Given the description of an element on the screen output the (x, y) to click on. 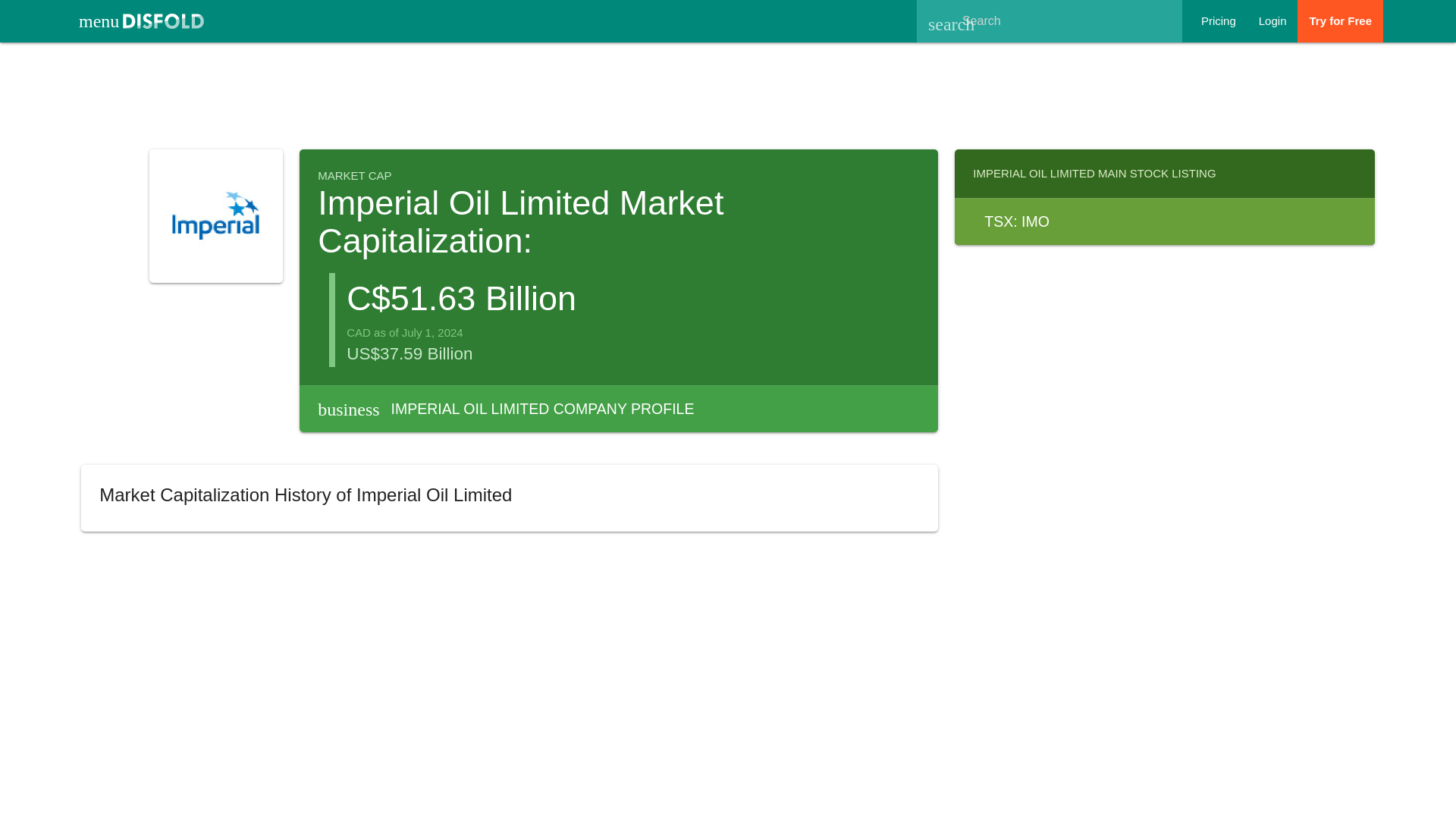
Try for Free (1340, 21)
Login (618, 408)
TSX: IMO (1272, 21)
Pricing (1164, 221)
Advertisement (1218, 21)
menu (727, 93)
